Given the description of an element on the screen output the (x, y) to click on. 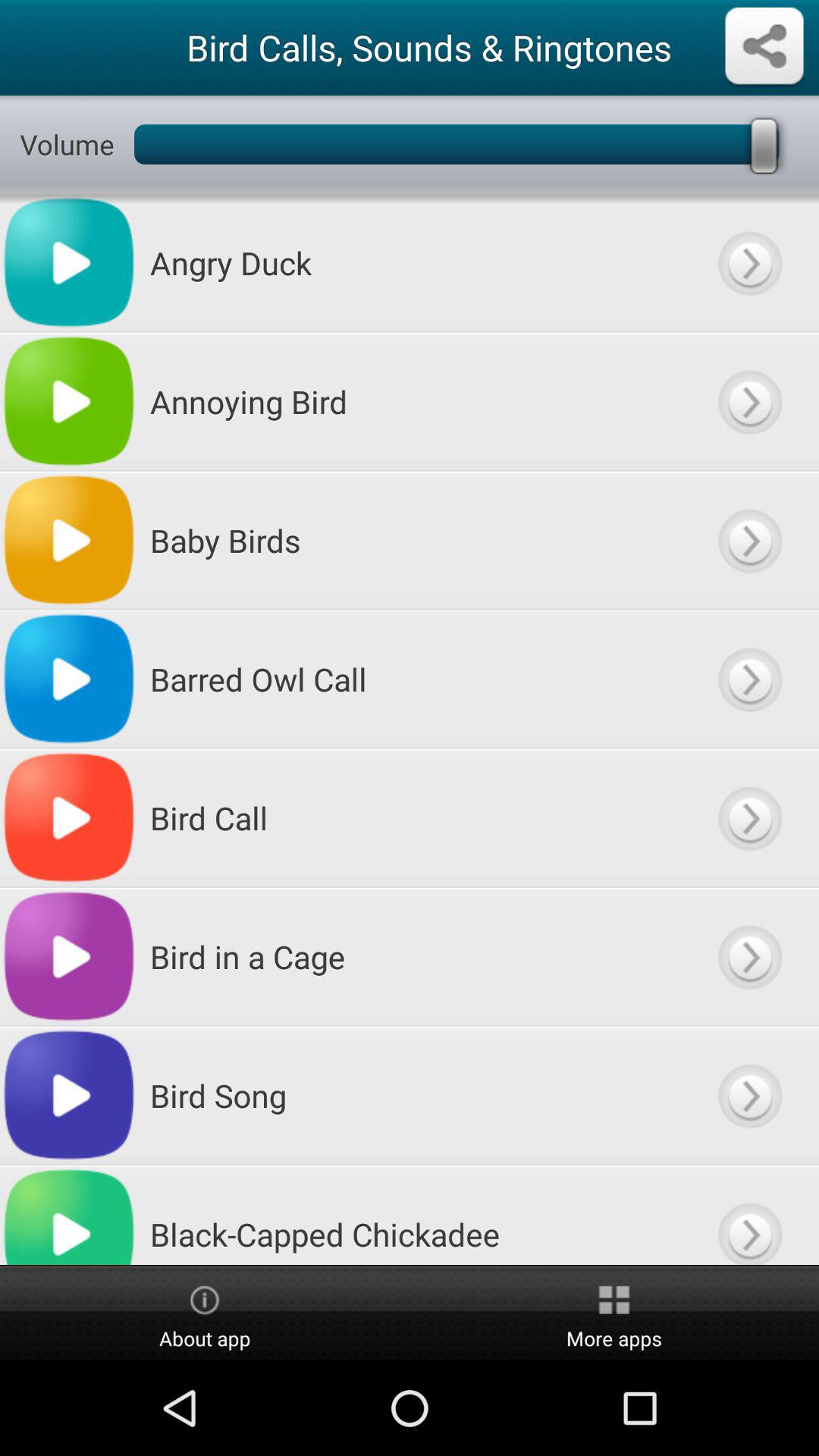
colour page (749, 679)
